Given the description of an element on the screen output the (x, y) to click on. 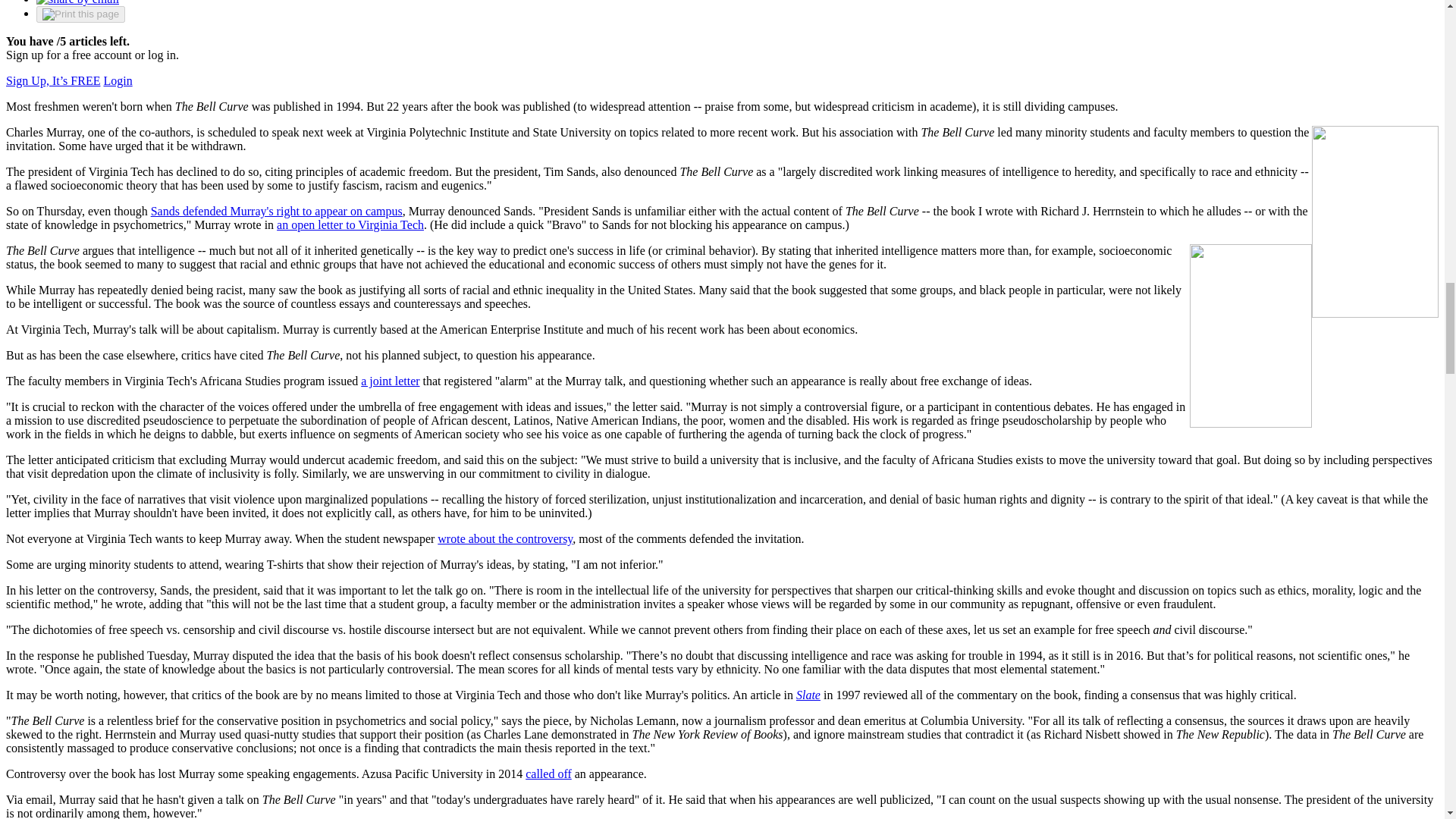
share by email (77, 2)
